Given the description of an element on the screen output the (x, y) to click on. 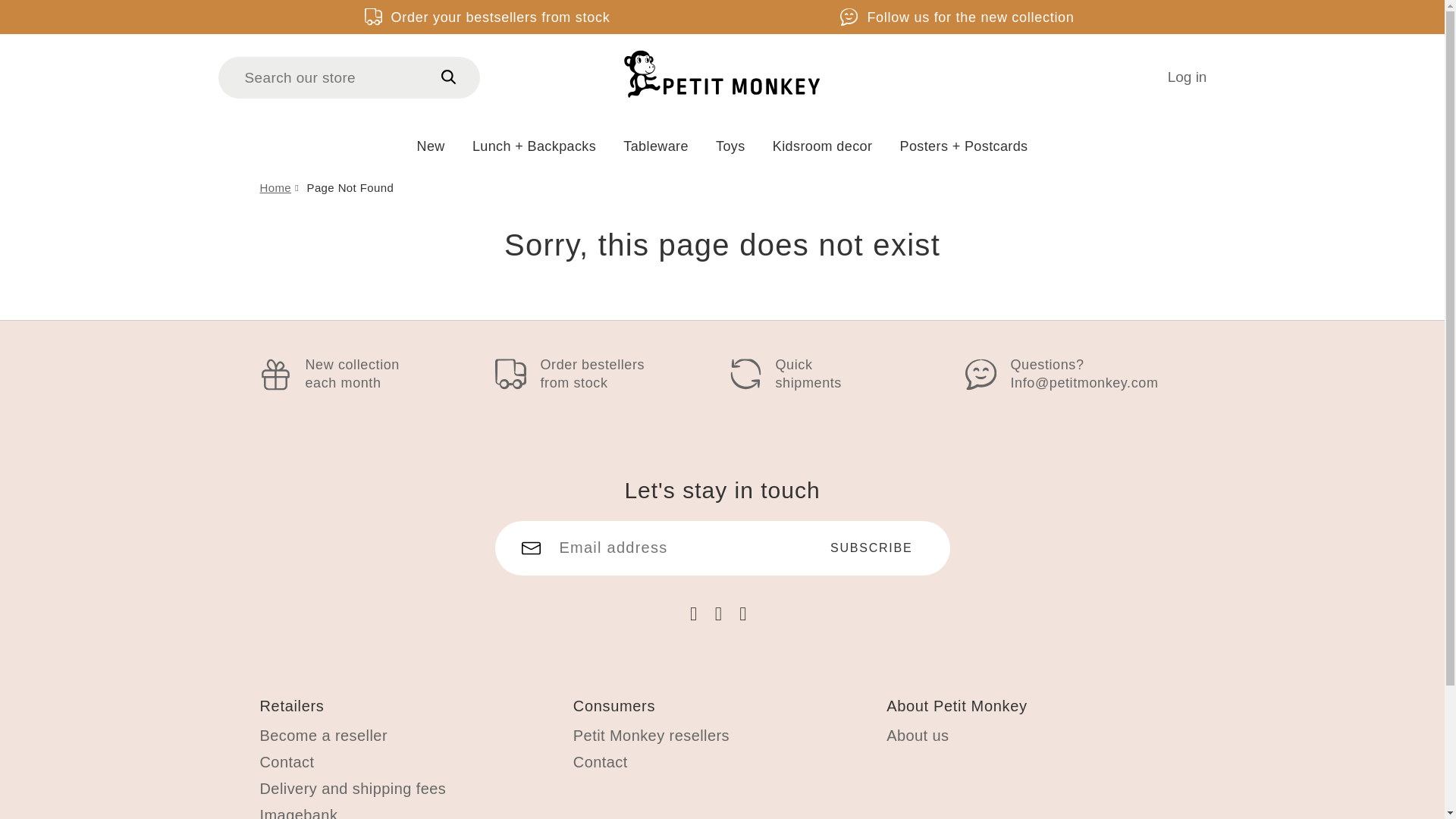
Tableware (655, 145)
Log in (1187, 76)
Toys (729, 145)
Subscribe (871, 547)
New (430, 145)
Home (275, 187)
Kidsroom decor (822, 145)
